Given the description of an element on the screen output the (x, y) to click on. 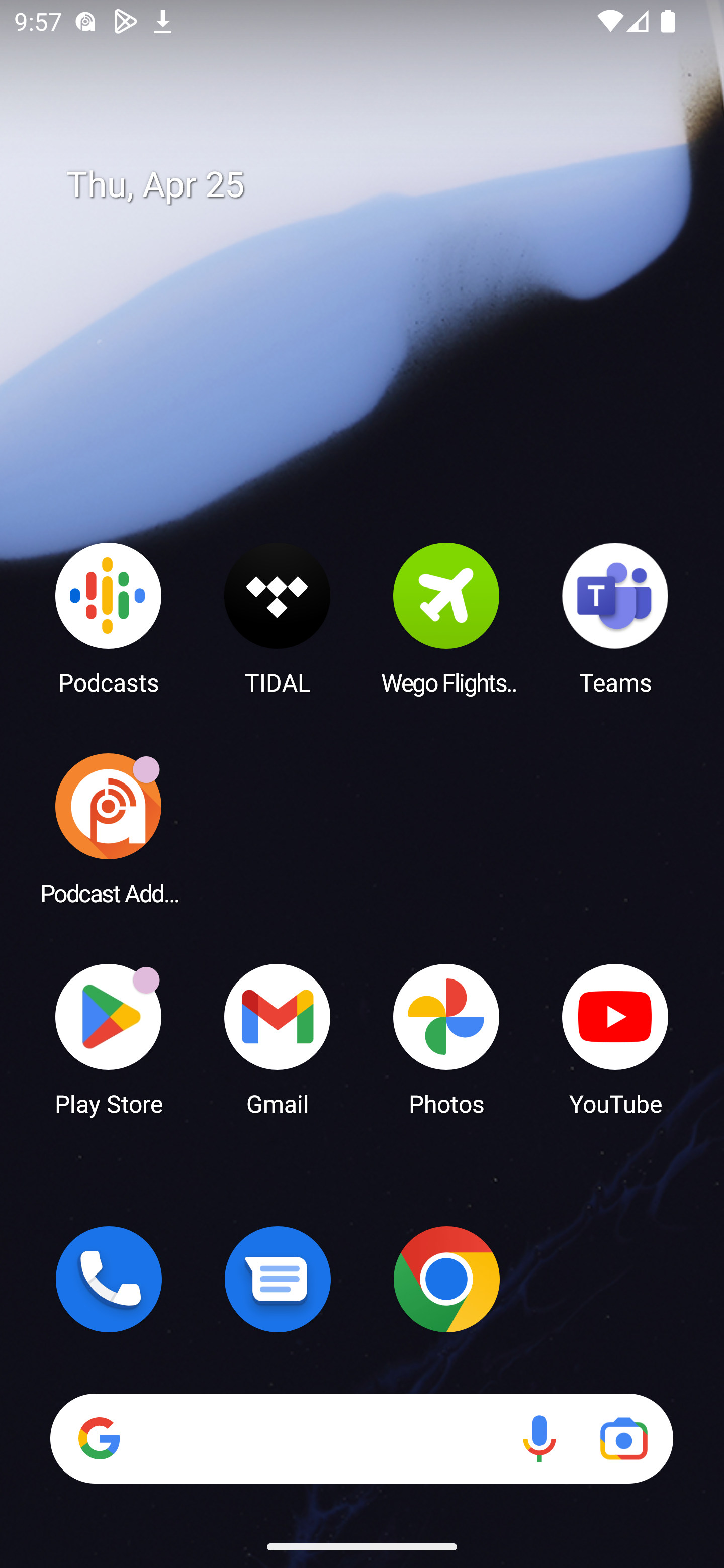
Thu, Apr 25 (375, 184)
Podcasts (108, 617)
TIDAL (277, 617)
Wego Flights & Hotels (445, 617)
Teams (615, 617)
Play Store Play Store has 1 notification (108, 1038)
Gmail (277, 1038)
Photos (445, 1038)
YouTube (615, 1038)
Phone (108, 1279)
Messages (277, 1279)
Chrome (446, 1279)
Search Voice search Google Lens (361, 1438)
Voice search (539, 1438)
Google Lens (623, 1438)
